Given the description of an element on the screen output the (x, y) to click on. 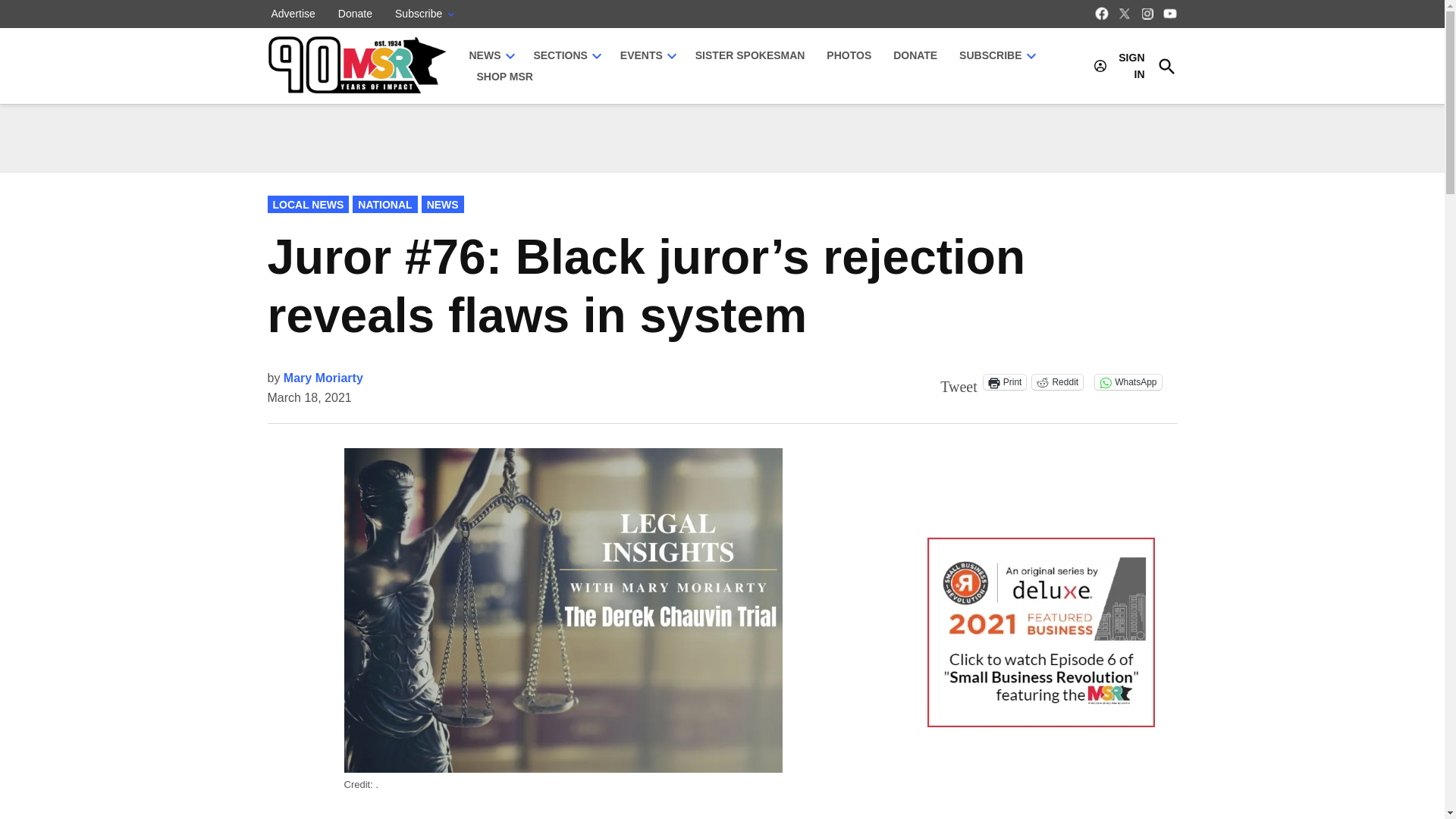
Click to share on WhatsApp (1127, 381)
Click to print (1005, 381)
Click to share on Reddit (1057, 381)
